Given the description of an element on the screen output the (x, y) to click on. 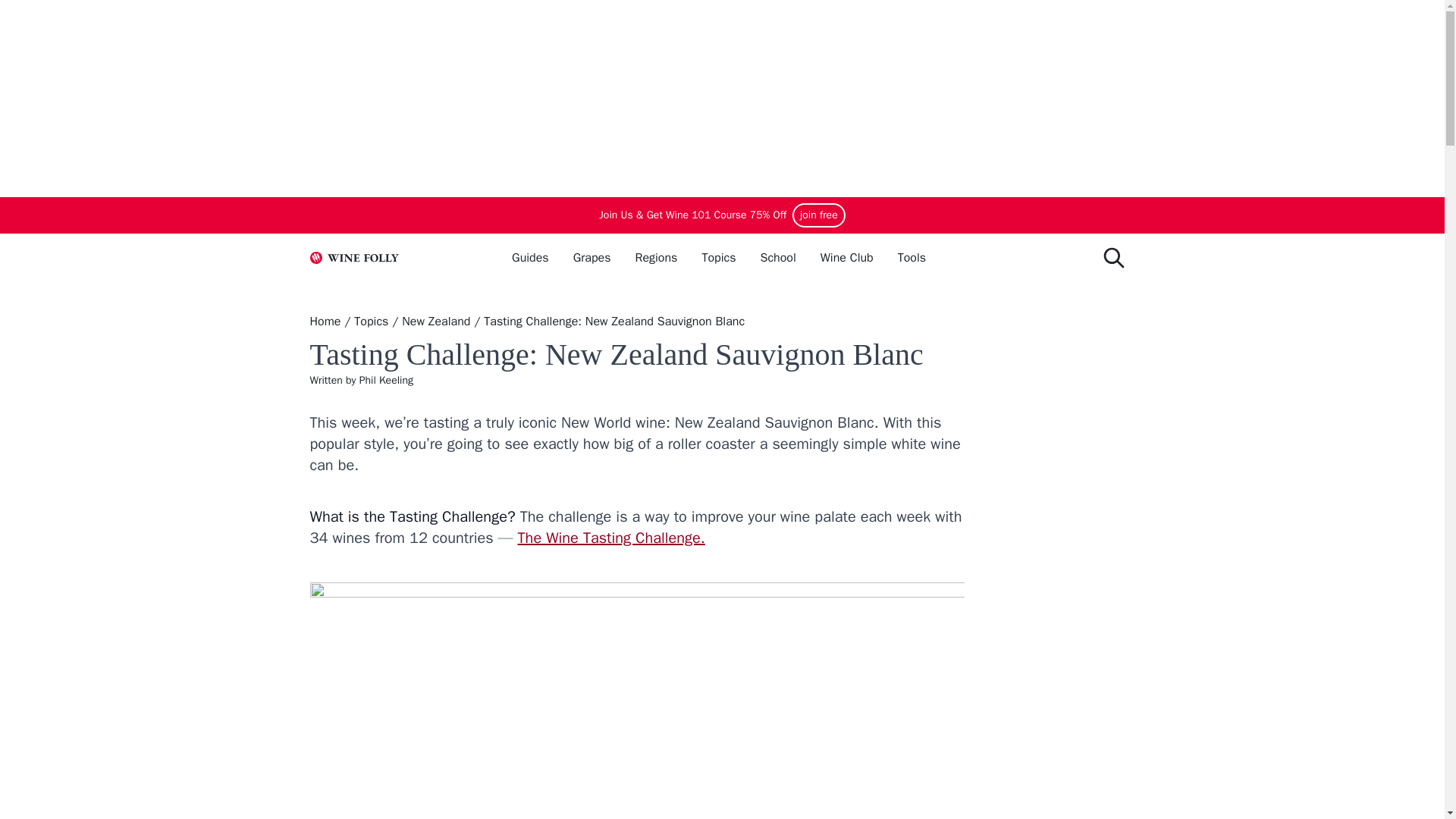
Grapes (592, 257)
Wine Club (847, 257)
Topics (370, 321)
School (777, 257)
join free (818, 215)
Wine Folly Logo (352, 257)
Tasting Challenge: New Zealand Sauvignon Blanc (613, 321)
Regions (655, 257)
New Zealand (435, 321)
Guides (530, 257)
